Given the description of an element on the screen output the (x, y) to click on. 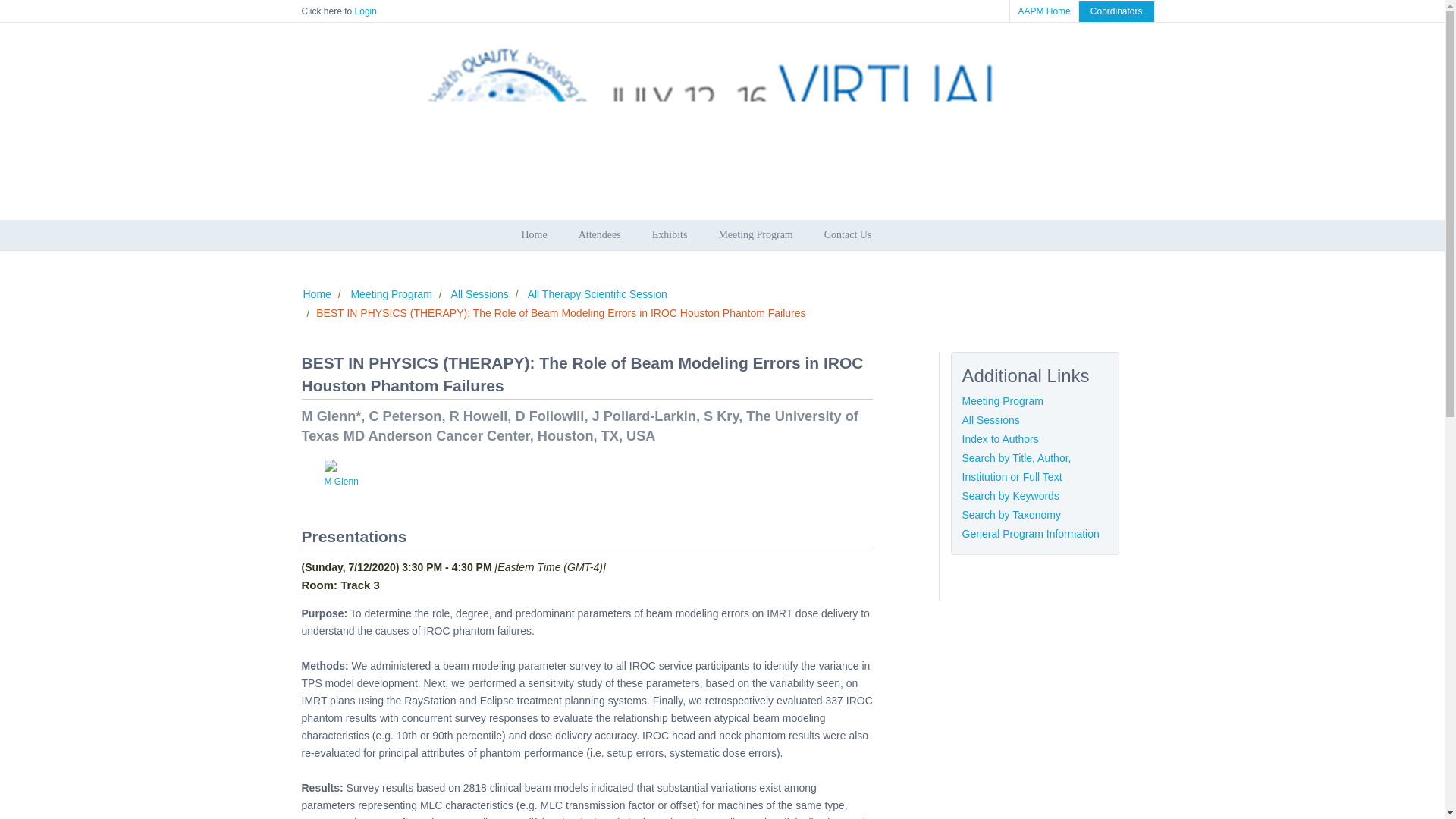
Login (366, 10)
